Given the description of an element on the screen output the (x, y) to click on. 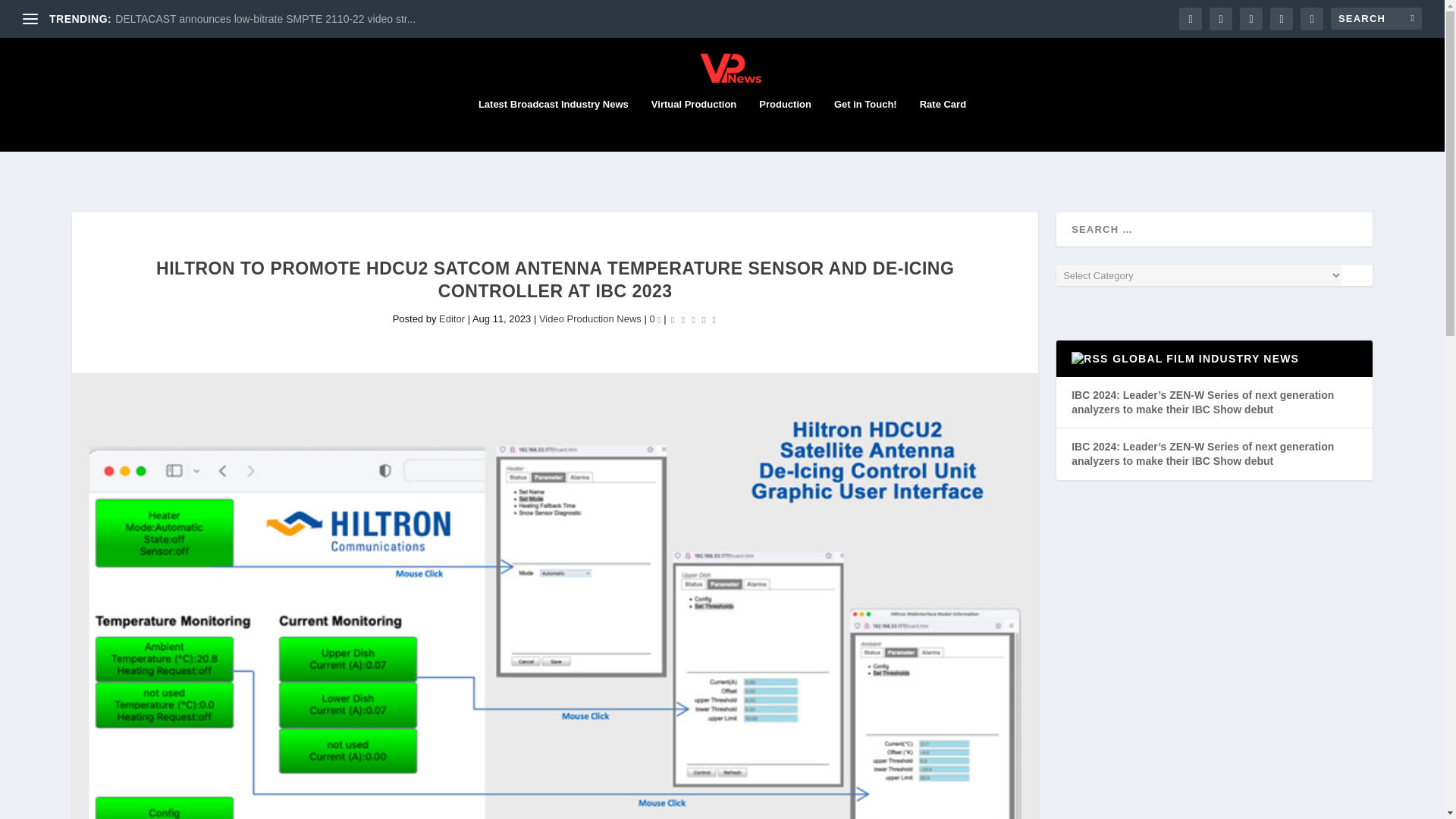
Video Production News (590, 318)
Get in Touch! (865, 124)
Latest Broadcast Industry News (553, 124)
0 (655, 318)
Production (784, 124)
DELTACAST announces low-bitrate SMPTE 2110-22 video str... (264, 19)
Virtual Production (693, 124)
Search for: (1376, 18)
Posts by Editor (451, 318)
Rating: 0.00 (692, 319)
Editor (451, 318)
